Given the description of an element on the screen output the (x, y) to click on. 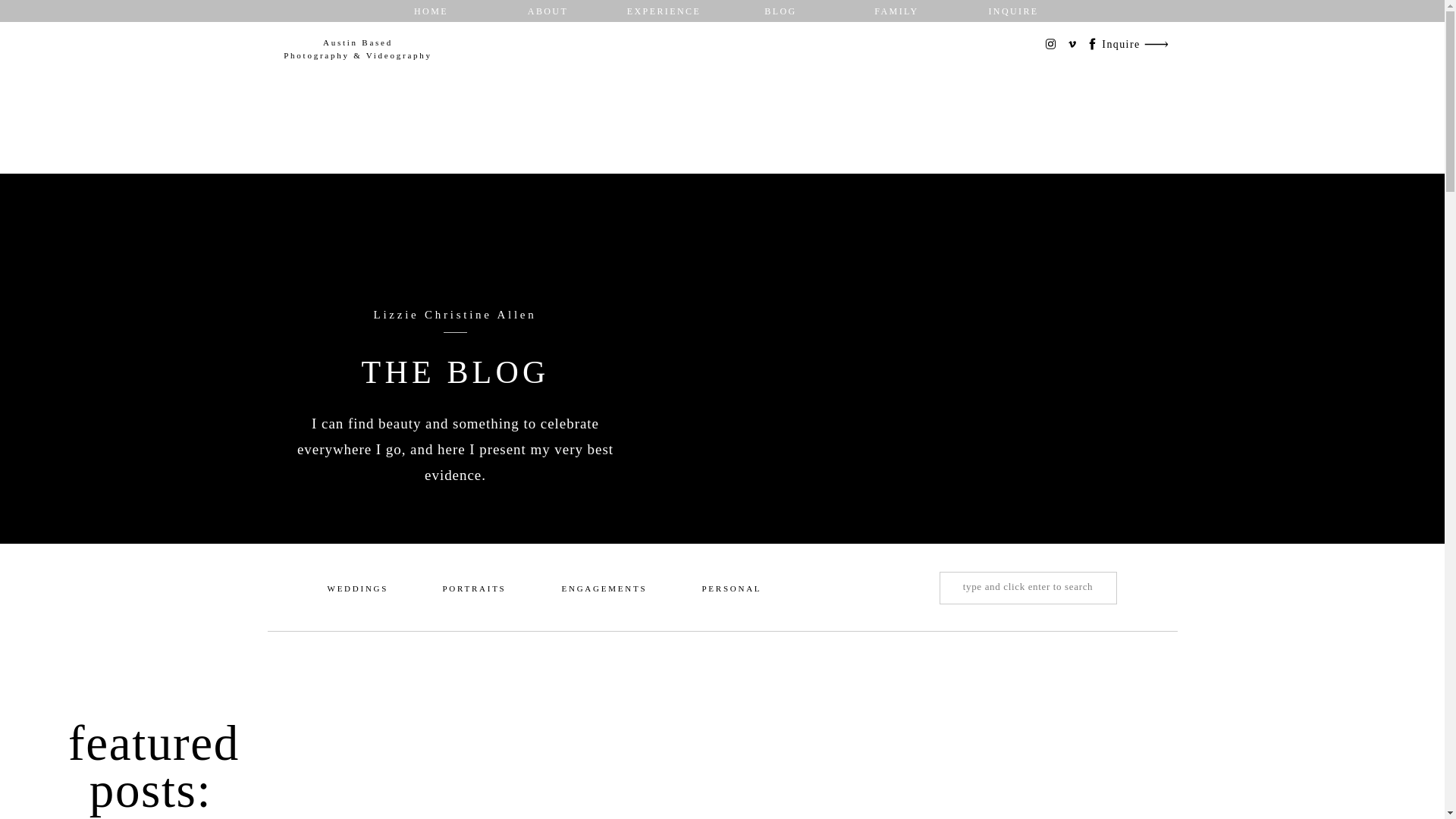
arrow (1155, 44)
arrow (1155, 44)
BLOG (779, 11)
PORTRAITS (472, 590)
FAMILY (897, 11)
ENGAGEMENTS (603, 590)
HOME (431, 11)
WEDDINGS (357, 590)
INQUIRE (1013, 11)
PERSONAL (730, 590)
